Given the description of an element on the screen output the (x, y) to click on. 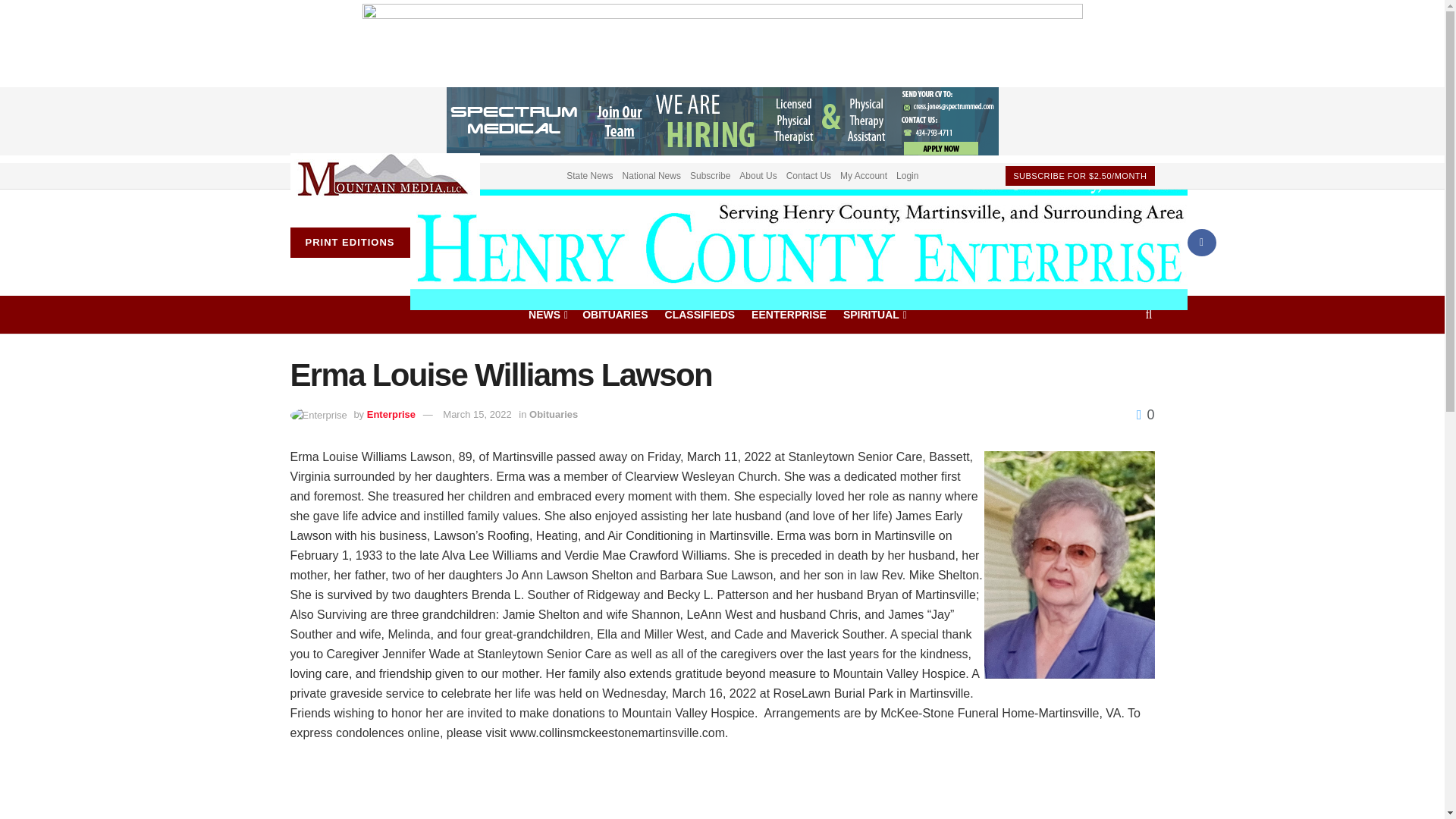
About Us (757, 175)
My Account (863, 175)
NEWS (547, 313)
CLASSIFIEDS (700, 313)
March 15, 2022 (476, 414)
Enterprise (390, 414)
State News (589, 175)
SPIRITUAL (873, 313)
Contact Us (808, 175)
National News (652, 175)
